Given the description of an element on the screen output the (x, y) to click on. 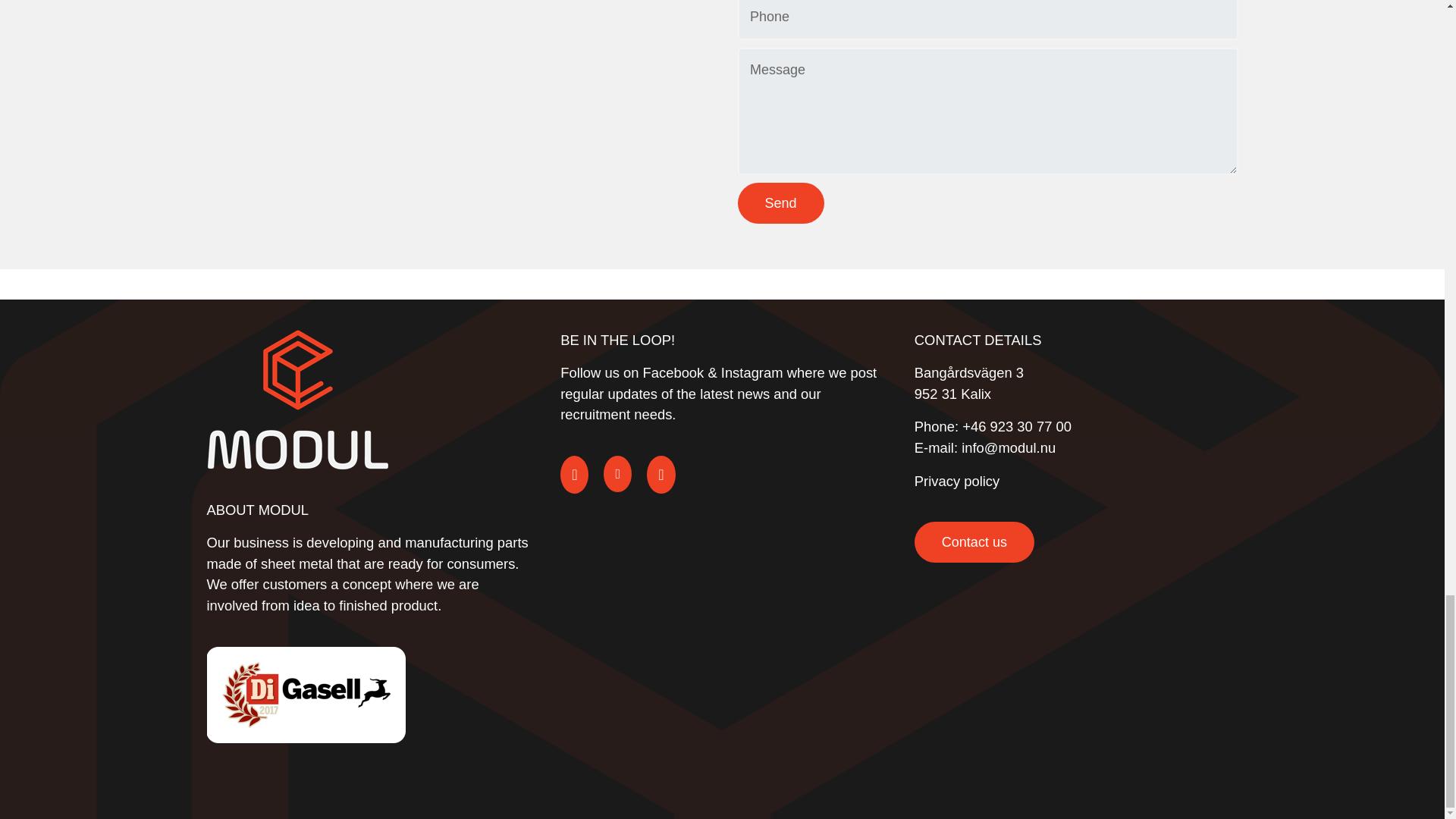
Send (780, 202)
Privacy policy (956, 480)
Contact us (973, 541)
Integritetspolicy (956, 480)
